Given the description of an element on the screen output the (x, y) to click on. 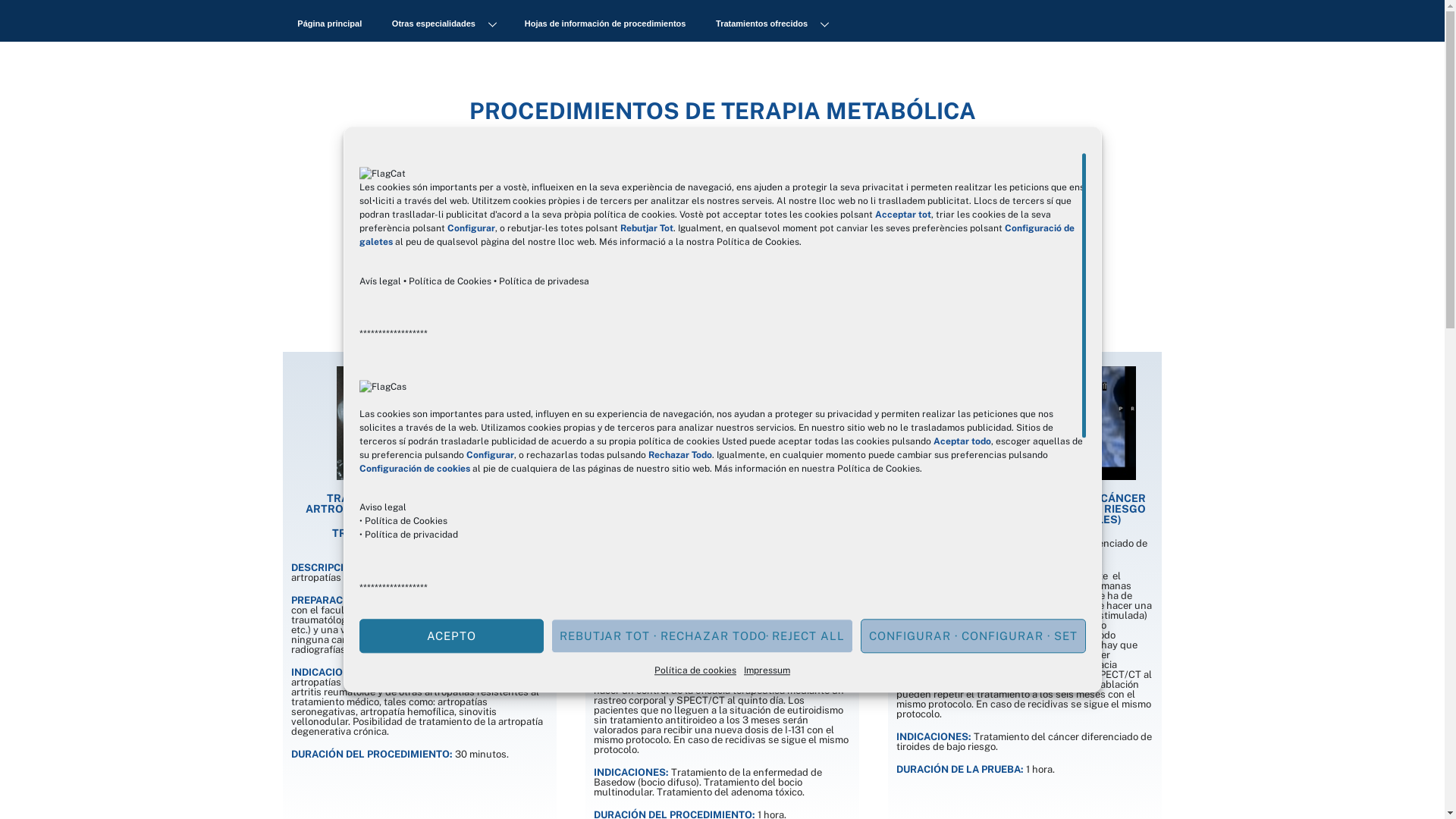
terapia-cas Element type: hover (419, 423)
Aviso legal Element type: text (382, 507)
terapia-cas Element type: hover (722, 423)
Impressum Element type: text (766, 670)
Cookies Policy Element type: text (407, 722)
Otras especialidades Element type: text (442, 23)
Cookies policy Element type: text (395, 788)
ACEPTO Element type: text (451, 635)
Legal notice Element type: text (386, 774)
Tratamientos ofrecidos Element type: text (770, 23)
terapia-cas Element type: hover (1024, 423)
Privacy statement Element type: text (403, 802)
